Given the description of an element on the screen output the (x, y) to click on. 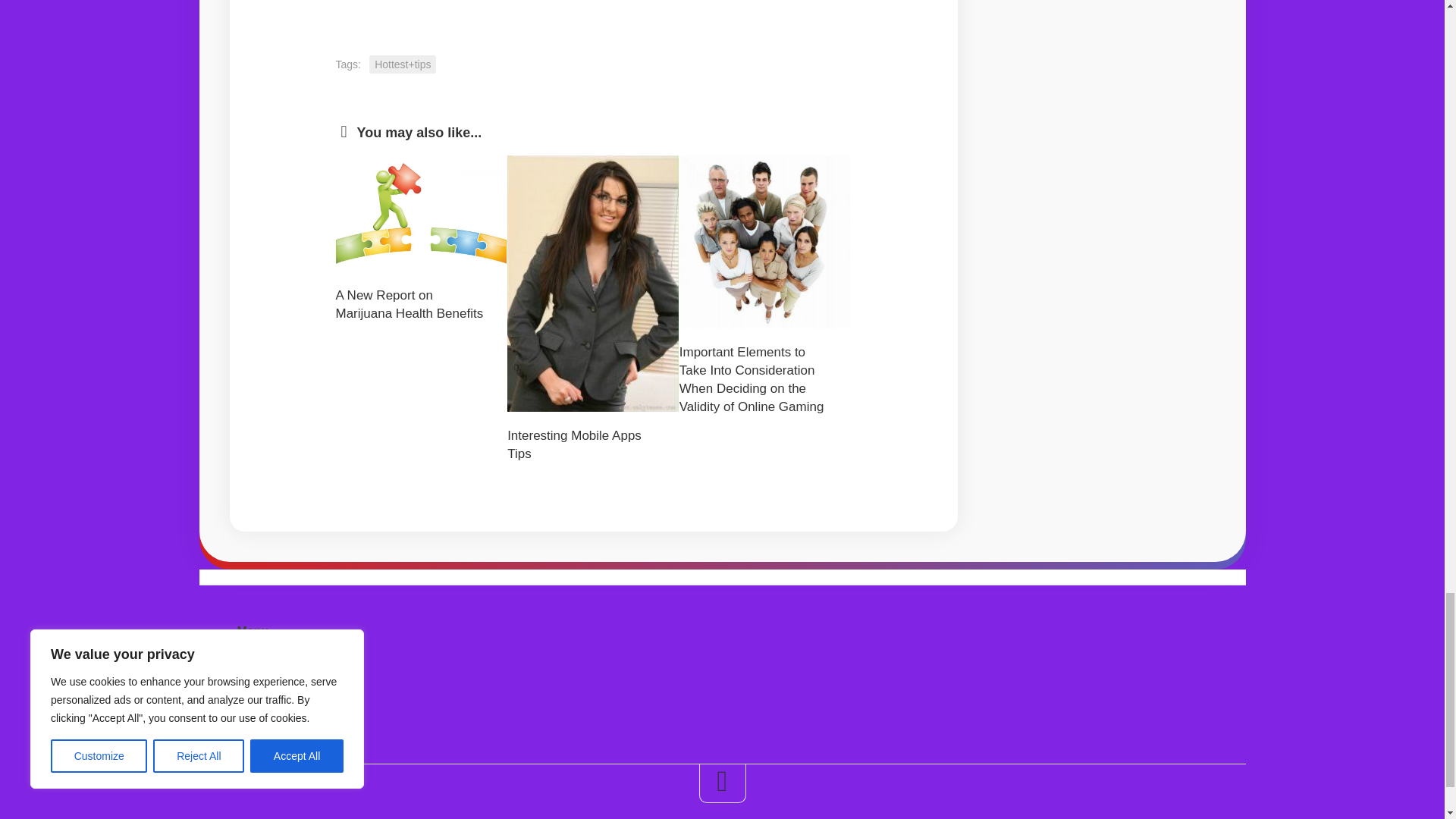
Interesting Mobile Apps Tips (574, 444)
A New Report on Marijuana Health Benefits (408, 304)
